Given the description of an element on the screen output the (x, y) to click on. 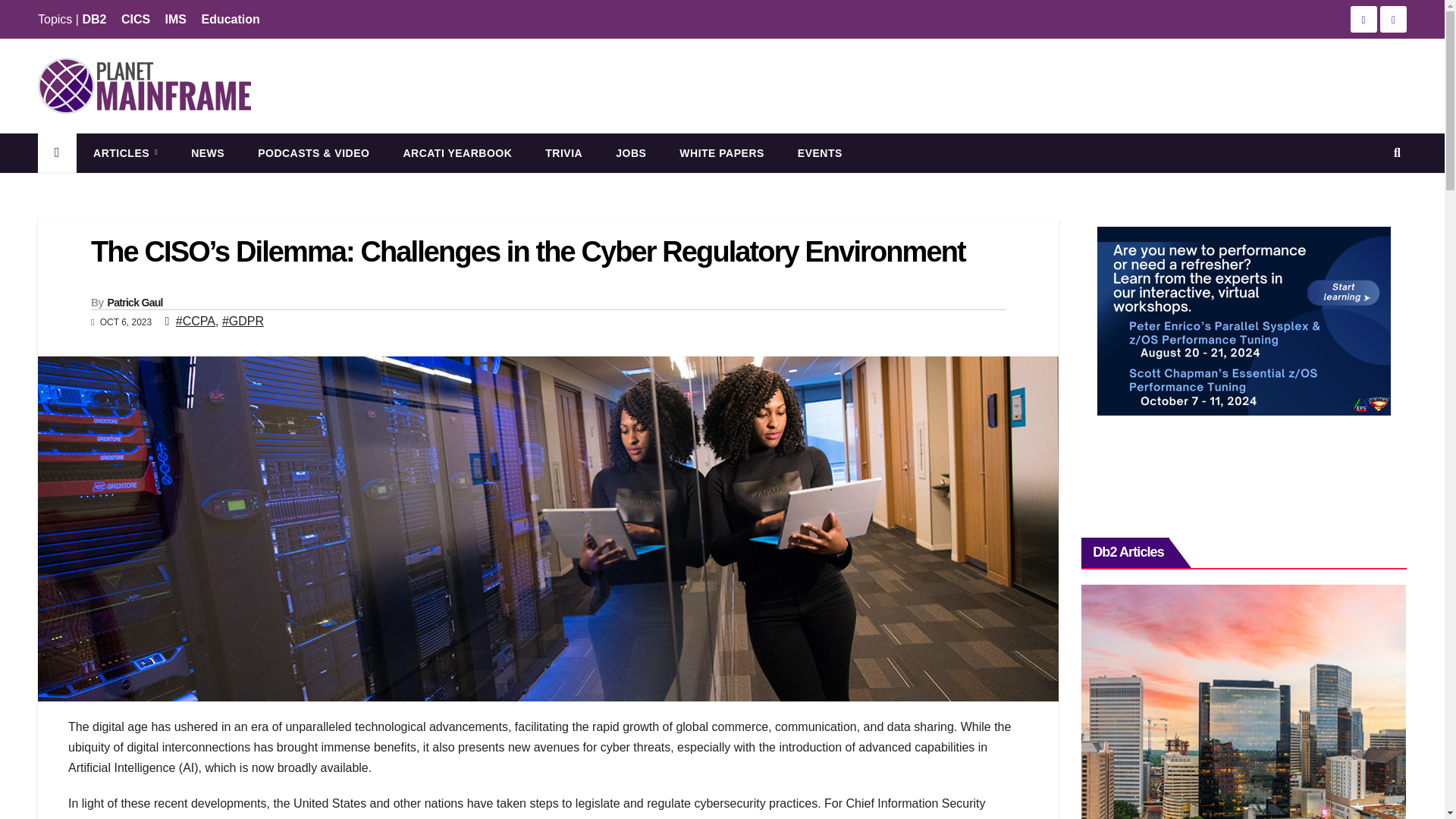
Trivia (563, 152)
ARCATI YEARBOOK (456, 152)
Jobs (630, 152)
ARTICLES (125, 152)
Arcati Yearbook (456, 152)
EVENTS (819, 152)
NEWS (207, 152)
DB2 (93, 19)
News (207, 152)
Articles (125, 152)
